Given the description of an element on the screen output the (x, y) to click on. 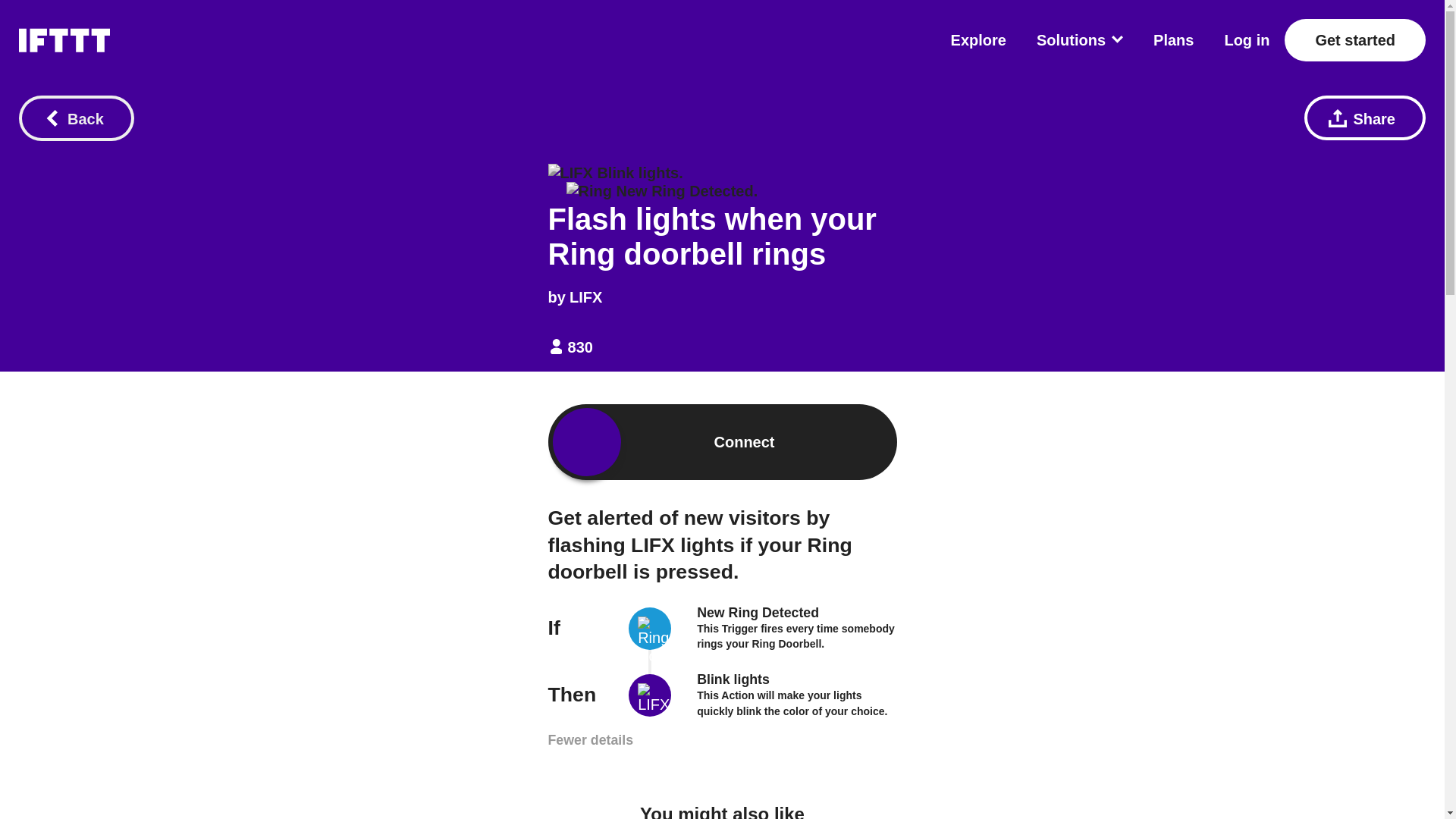
Get started (1354, 39)
Plans (1173, 39)
Ring New Ring Detected. (661, 190)
Blink lights (733, 679)
New Ring Detected (757, 612)
New Ring Detected (757, 612)
Blink lights (733, 679)
Back (75, 117)
Plans (1173, 39)
